Given the description of an element on the screen output the (x, y) to click on. 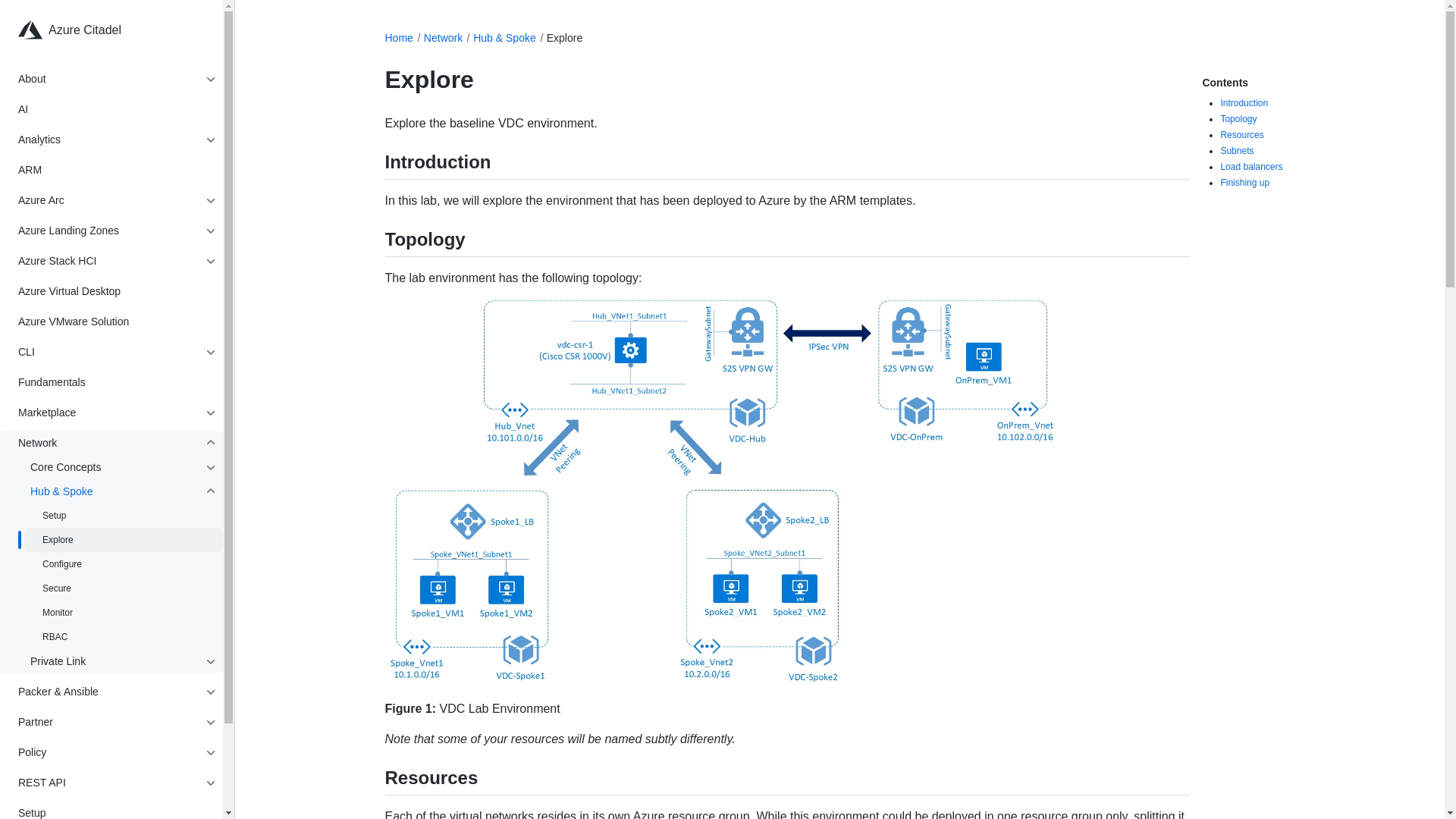
About (107, 78)
Azure Arc (107, 200)
About (107, 78)
AI (116, 109)
Azure Citadel (123, 30)
Analytics (107, 139)
AI (116, 109)
ARM (116, 169)
Azure Arc (107, 200)
ARM (116, 169)
Analytics (107, 139)
